Given the description of an element on the screen output the (x, y) to click on. 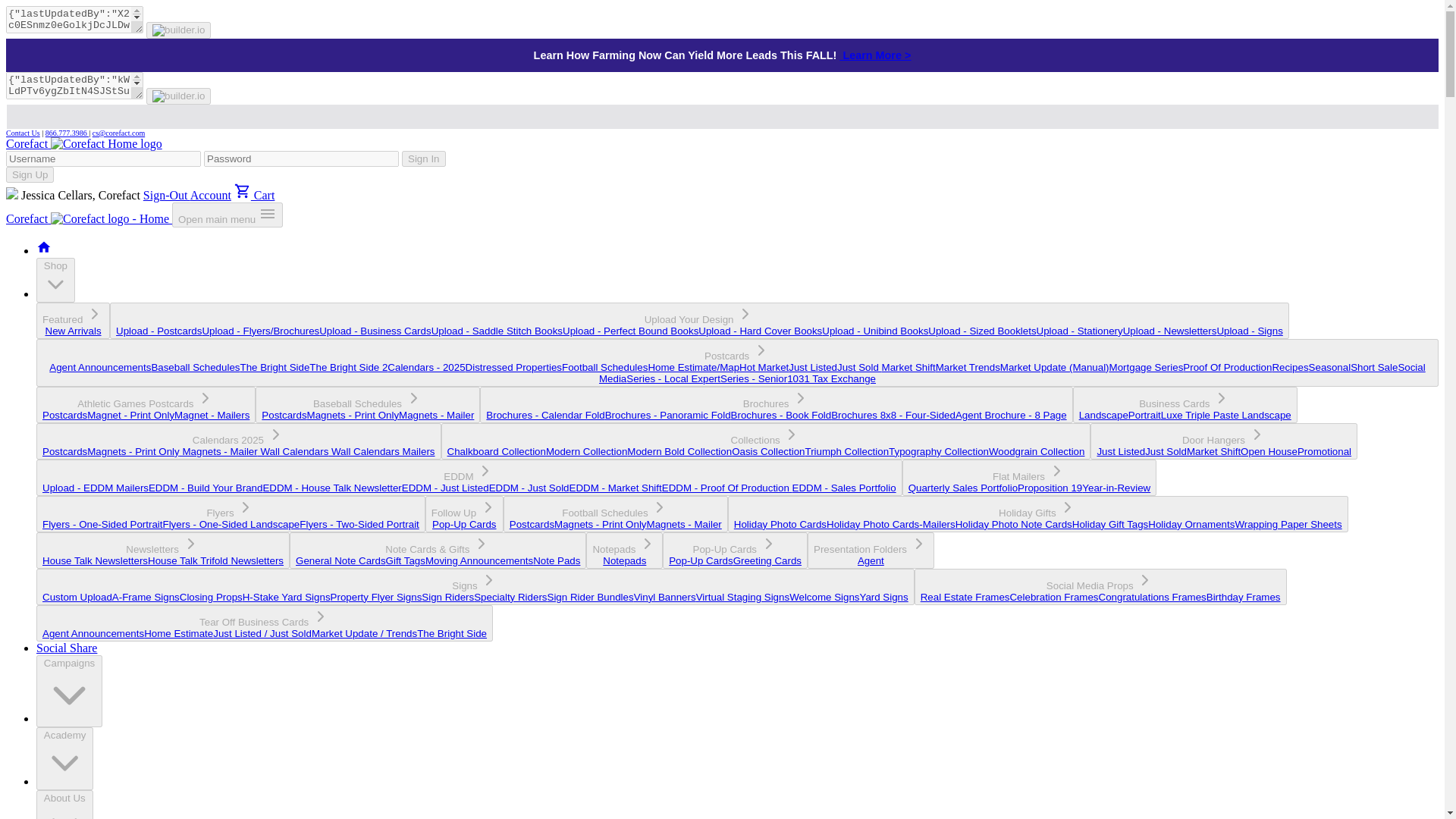
Corefact (83, 143)
Upload - Signs (1248, 330)
Corefact (88, 218)
Email us (118, 132)
Call us (66, 132)
Upload - Hard Cover Books (760, 330)
The Bright Side 2 (347, 367)
866.777.3986 (66, 132)
Contact Us (22, 132)
Agent Announcements (100, 367)
Shop (55, 279)
Upload - Stationery (1079, 330)
Cart (254, 195)
Open main menu (226, 214)
Contact Form (22, 132)
